Given the description of an element on the screen output the (x, y) to click on. 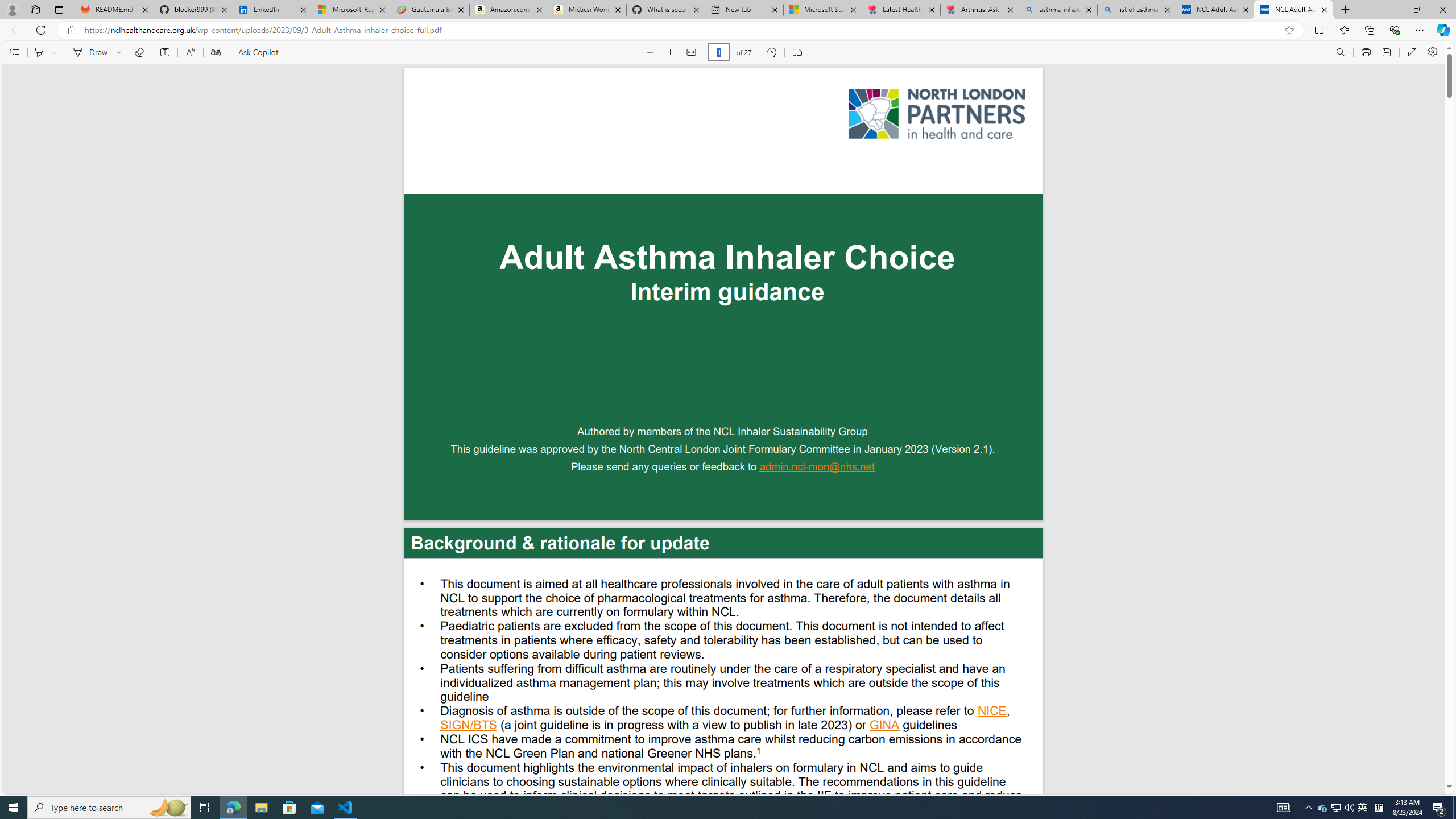
Translate (215, 52)
Page number (718, 52)
Page view (797, 52)
Select a highlight color (56, 52)
Settings and more (1432, 52)
Erase (138, 52)
Zoom out (Ctrl+Minus key) (650, 52)
LinkedIn (272, 9)
